Given the description of an element on the screen output the (x, y) to click on. 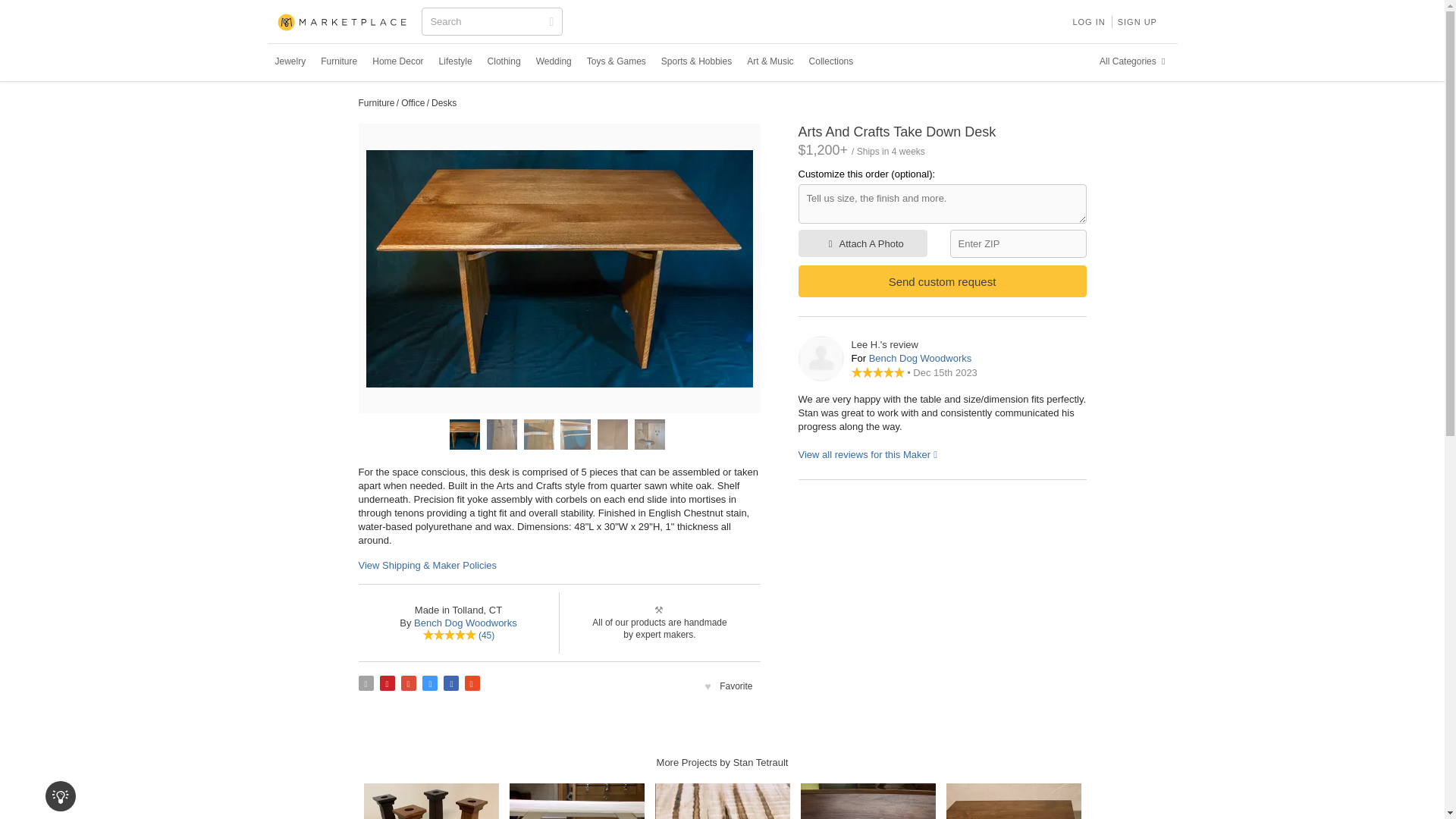
CUSTOMMADE (342, 22)
SIGN UP (1137, 21)
Log in to CustomMade (1087, 21)
All Categories (1134, 61)
LOG IN (1087, 21)
Custom Jewelry (289, 61)
Jewelry (289, 61)
